Given the description of an element on the screen output the (x, y) to click on. 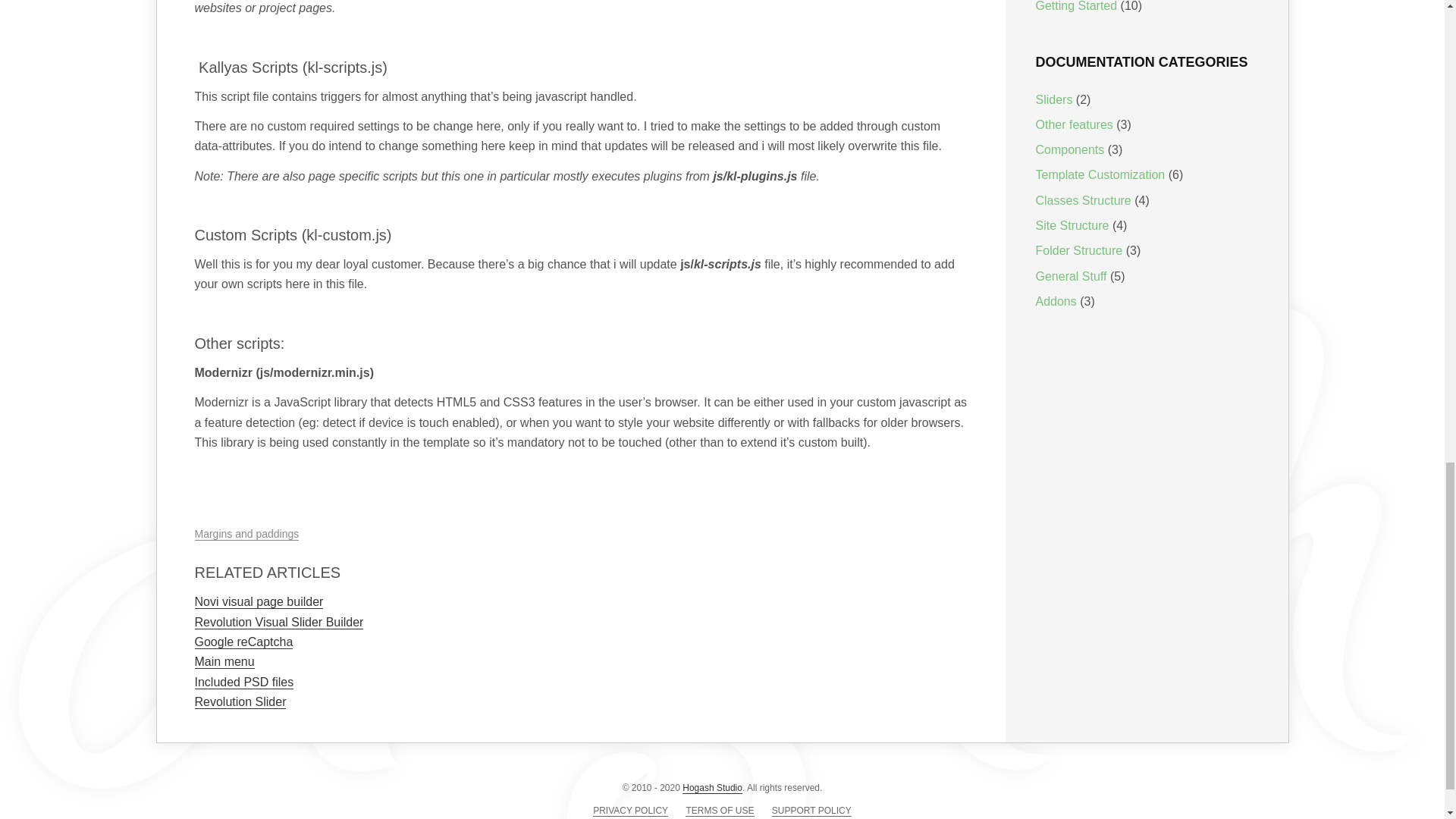
Revolution Visual Slider Builder (277, 622)
Margins and paddings (245, 533)
Included PSD files (243, 682)
Main menu (223, 662)
Revolution Slider (239, 702)
Novi visual page builder (258, 602)
Getting started with Kallyas WordPress theme (1076, 6)
Google reCaptcha (242, 642)
